Given the description of an element on the screen output the (x, y) to click on. 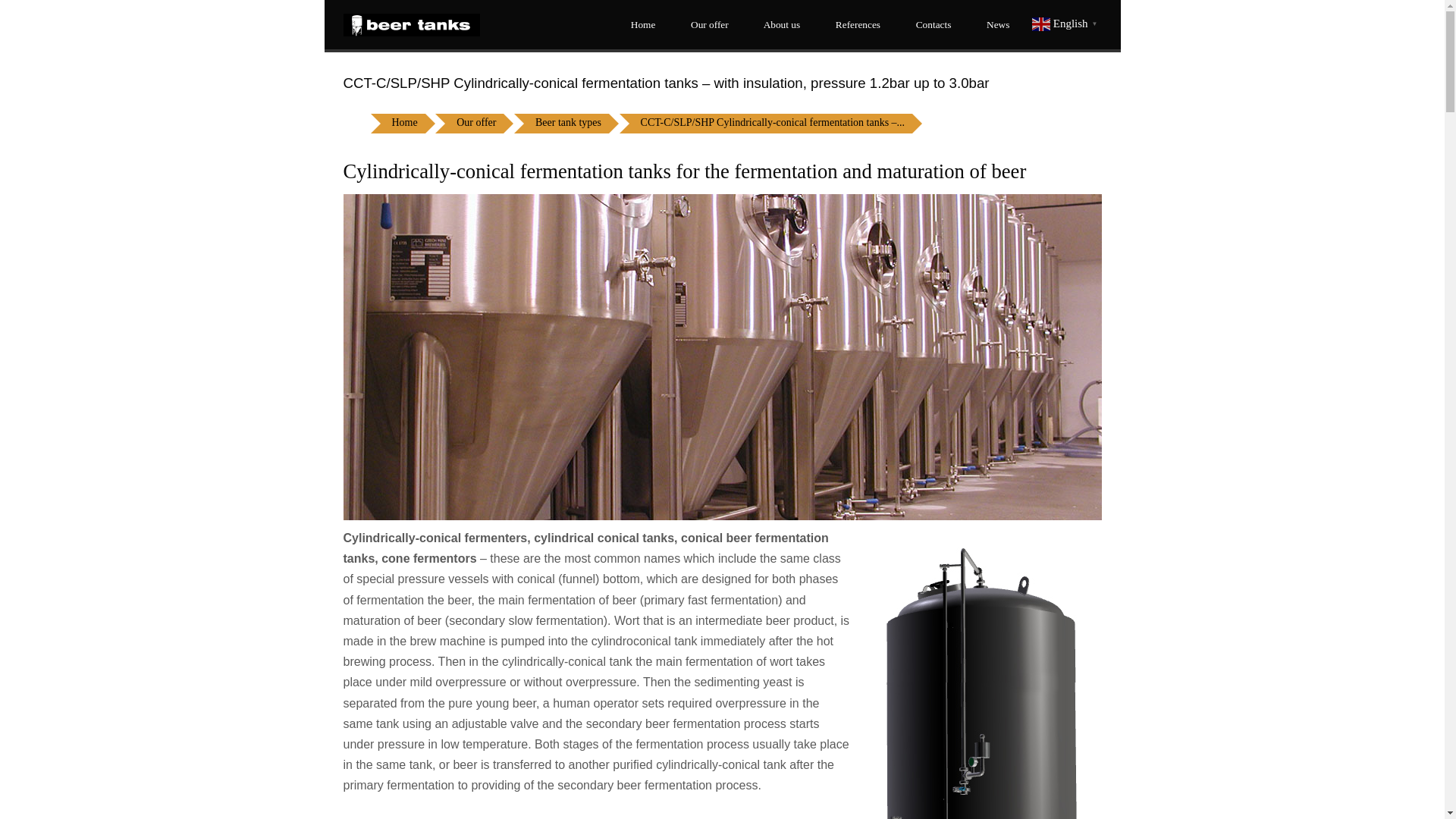
Beer tank types (567, 123)
  Our offer (705, 24)
  News (995, 24)
Our offer (475, 123)
  References (855, 24)
  About us (779, 24)
  Home (639, 24)
  Contacts (930, 24)
Home (404, 123)
Beer tanks (410, 24)
